Given the description of an element on the screen output the (x, y) to click on. 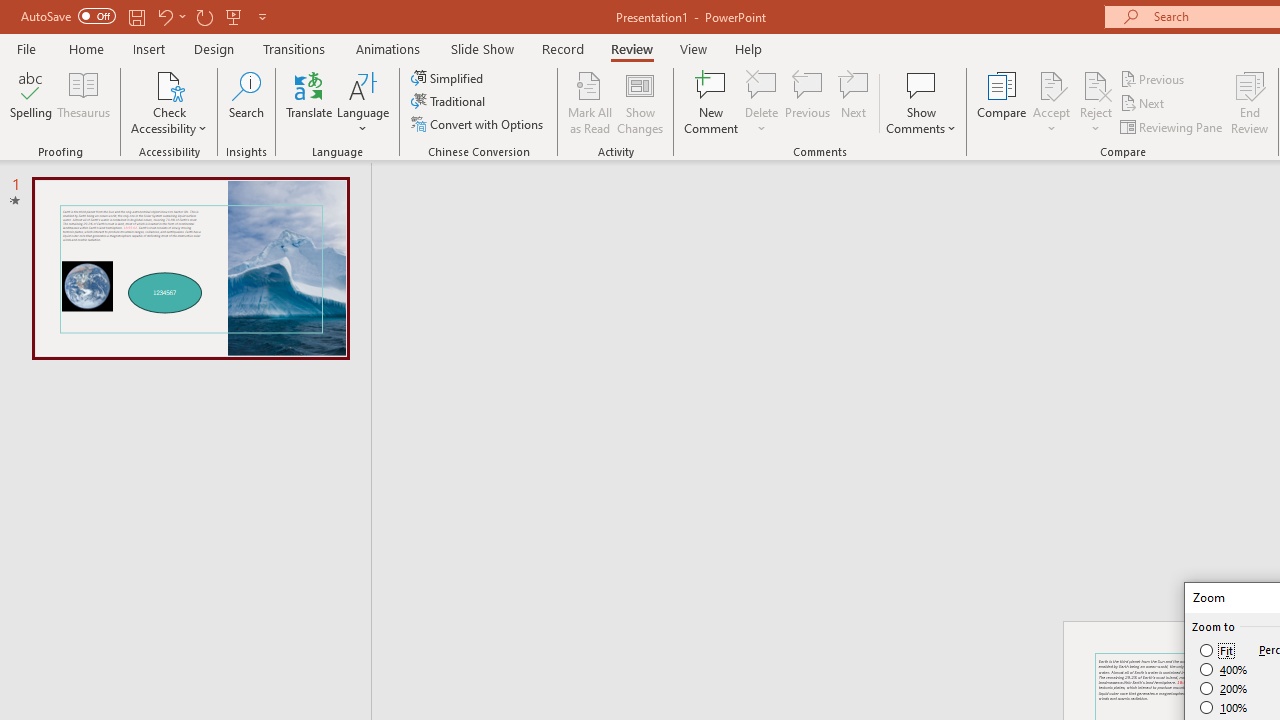
Reject Change (1096, 84)
Thesaurus... (83, 102)
Convert with Options... (479, 124)
Show Changes (639, 102)
Reject (1096, 102)
400% (1224, 669)
Accept (1051, 102)
Traditional (449, 101)
